Given the description of an element on the screen output the (x, y) to click on. 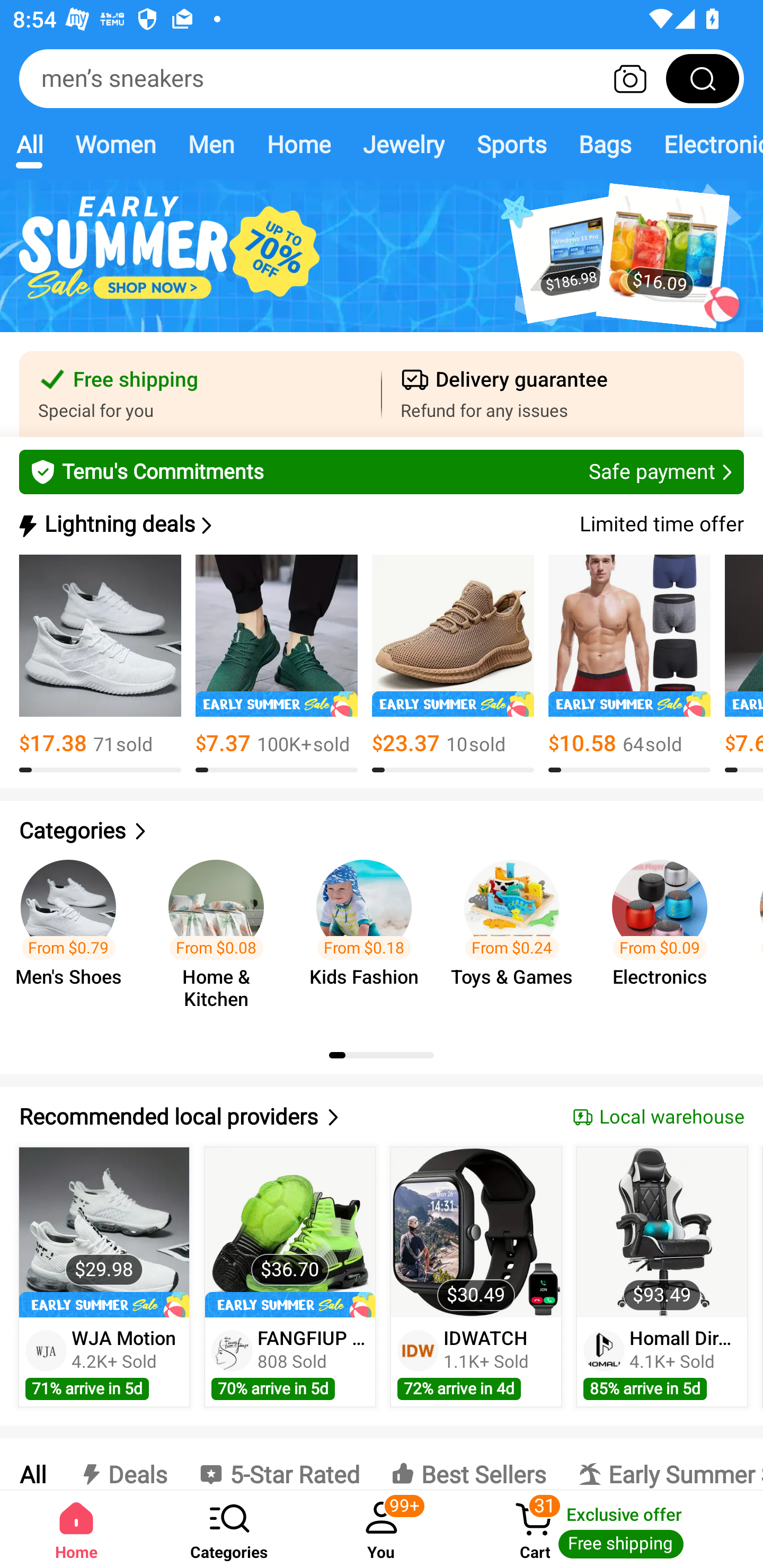
men’s sneakers (381, 78)
All (29, 144)
Women (115, 144)
Men (211, 144)
Home (298, 144)
Jewelry (403, 144)
Sports (511, 144)
Bags (605, 144)
Electronics (705, 144)
$186.98 $16.09 (381, 265)
Free shipping Special for you (200, 394)
Delivery guarantee Refund for any issues (562, 394)
Temu's Commitments (381, 471)
Lightning deals Lightning deals Limited time offer (379, 524)
$17.38 71￼sold 8.0 (100, 664)
$7.37 100K+￼sold 8.0 (276, 664)
$23.37 10￼sold 8.0 (453, 664)
$10.58 64￼sold 8.0 (629, 664)
Categories (381, 830)
From $0.79 Men's Shoes (74, 936)
From $0.08 Home & Kitchen (222, 936)
From $0.18 Kids Fashion (369, 936)
From $0.24 Toys & Games (517, 936)
From $0.09 Electronics (665, 936)
$29.98 WJA Motion 4.2K+ Sold 71% arrive in 5d (103, 1276)
$30.49 IDWATCH 1.1K+ Sold 72% arrive in 4d (475, 1276)
$93.49 Homall Direct 4.1K+ Sold 85% arrive in 5d (661, 1276)
$29.98 (104, 1232)
$36.70 (290, 1232)
$30.49 (475, 1232)
$93.49 (661, 1232)
All (32, 1463)
Deals Deals Deals (122, 1463)
5-Star Rated 5-Star Rated 5-Star Rated (279, 1463)
Best Sellers Best Sellers Best Sellers (468, 1463)
Home (76, 1528)
Categories (228, 1528)
You ‎99+‎ You (381, 1528)
Cart 31 Cart Exclusive offer (610, 1528)
